Given the description of an element on the screen output the (x, y) to click on. 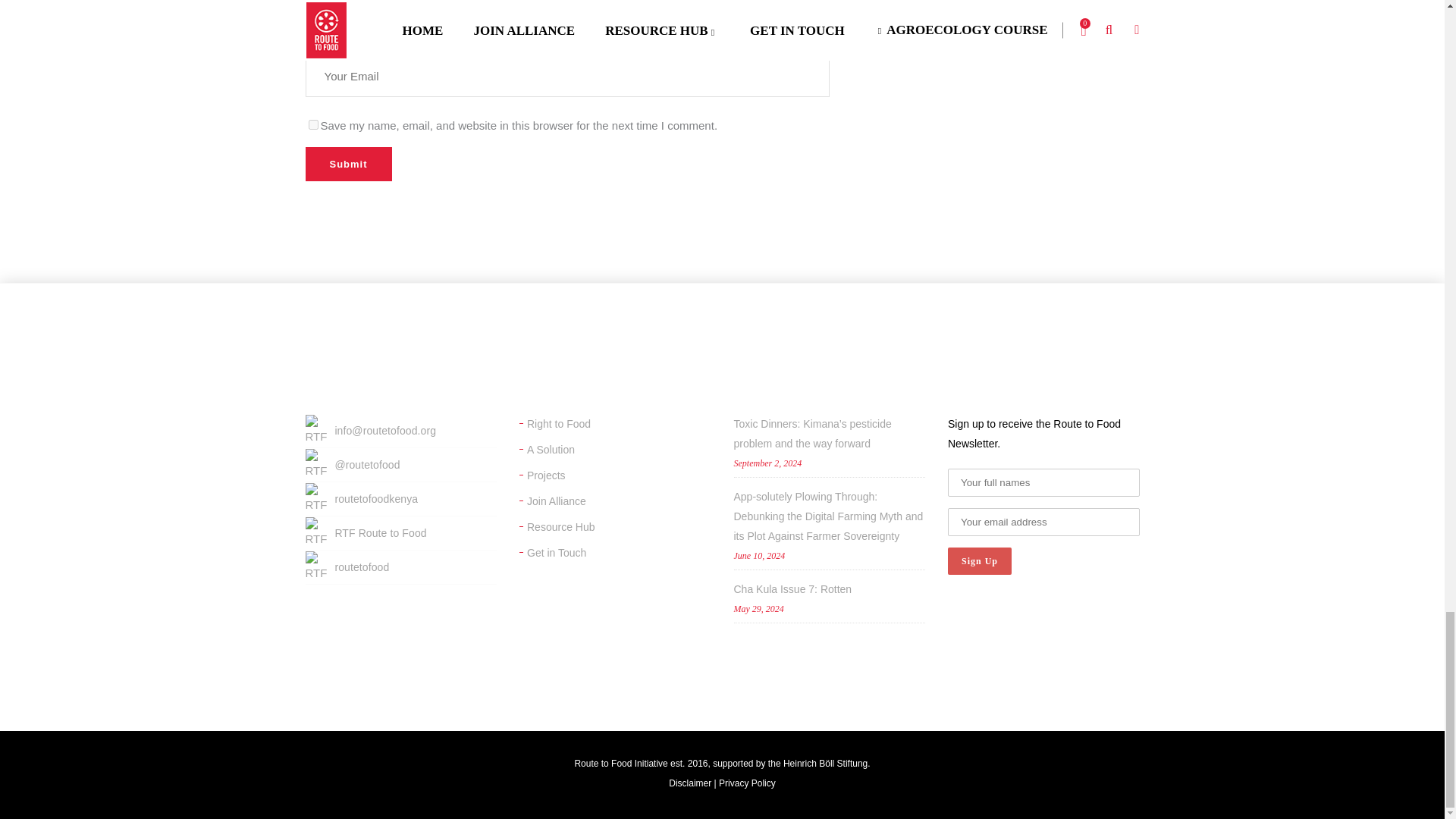
Sign Up (979, 560)
Submit (347, 163)
yes (312, 124)
